Given the description of an element on the screen output the (x, y) to click on. 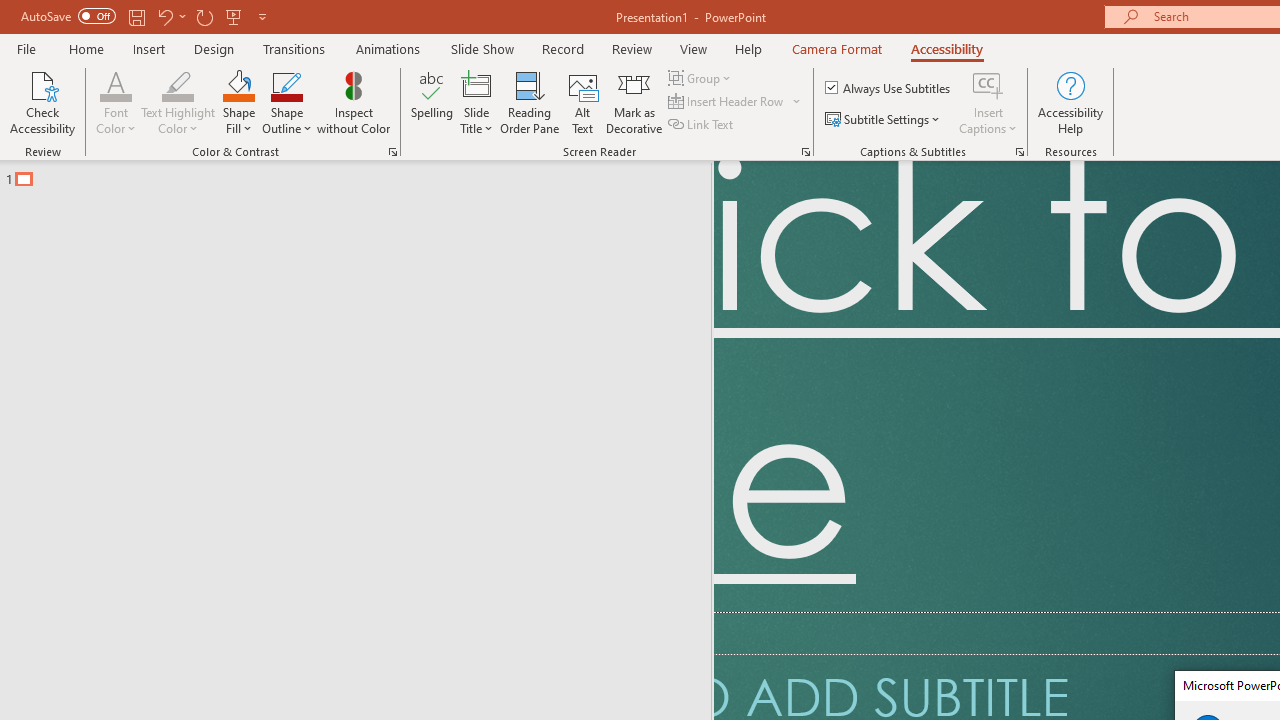
Outline (364, 174)
Slide Title (476, 102)
Alt Text (582, 102)
Shape Outline Blue, Accent 1 (286, 84)
Insert Header Row (727, 101)
Captions & Subtitles (1019, 151)
Shape Fill Orange, Accent 2 (238, 84)
